Given the description of an element on the screen output the (x, y) to click on. 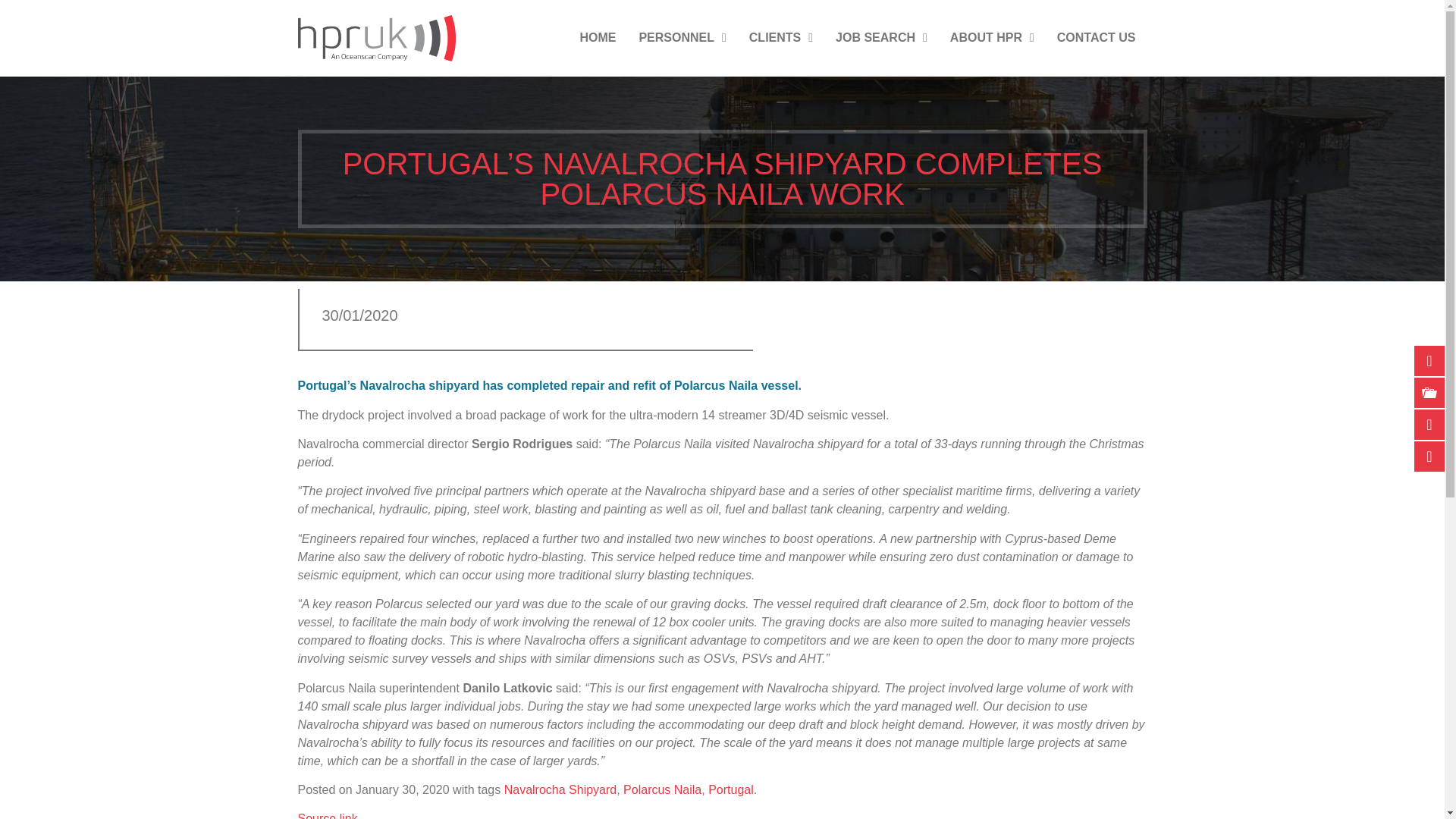
ABOUT HPR (992, 37)
PERSONNEL (681, 37)
JOB SEARCH (881, 37)
CONTACT US (1096, 37)
HOME (597, 37)
CLIENTS (781, 37)
